Given the description of an element on the screen output the (x, y) to click on. 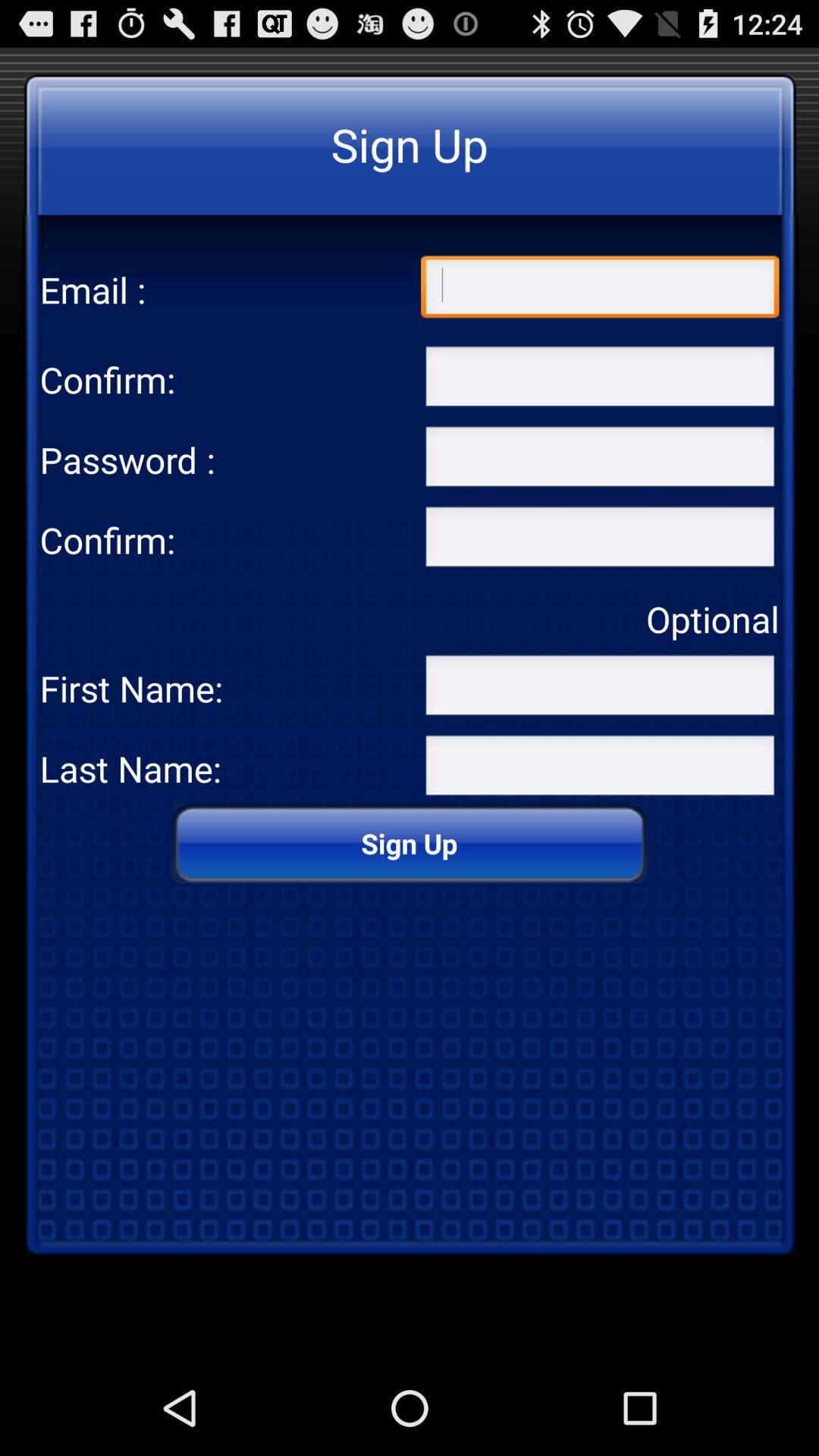
email box (599, 289)
